Given the description of an element on the screen output the (x, y) to click on. 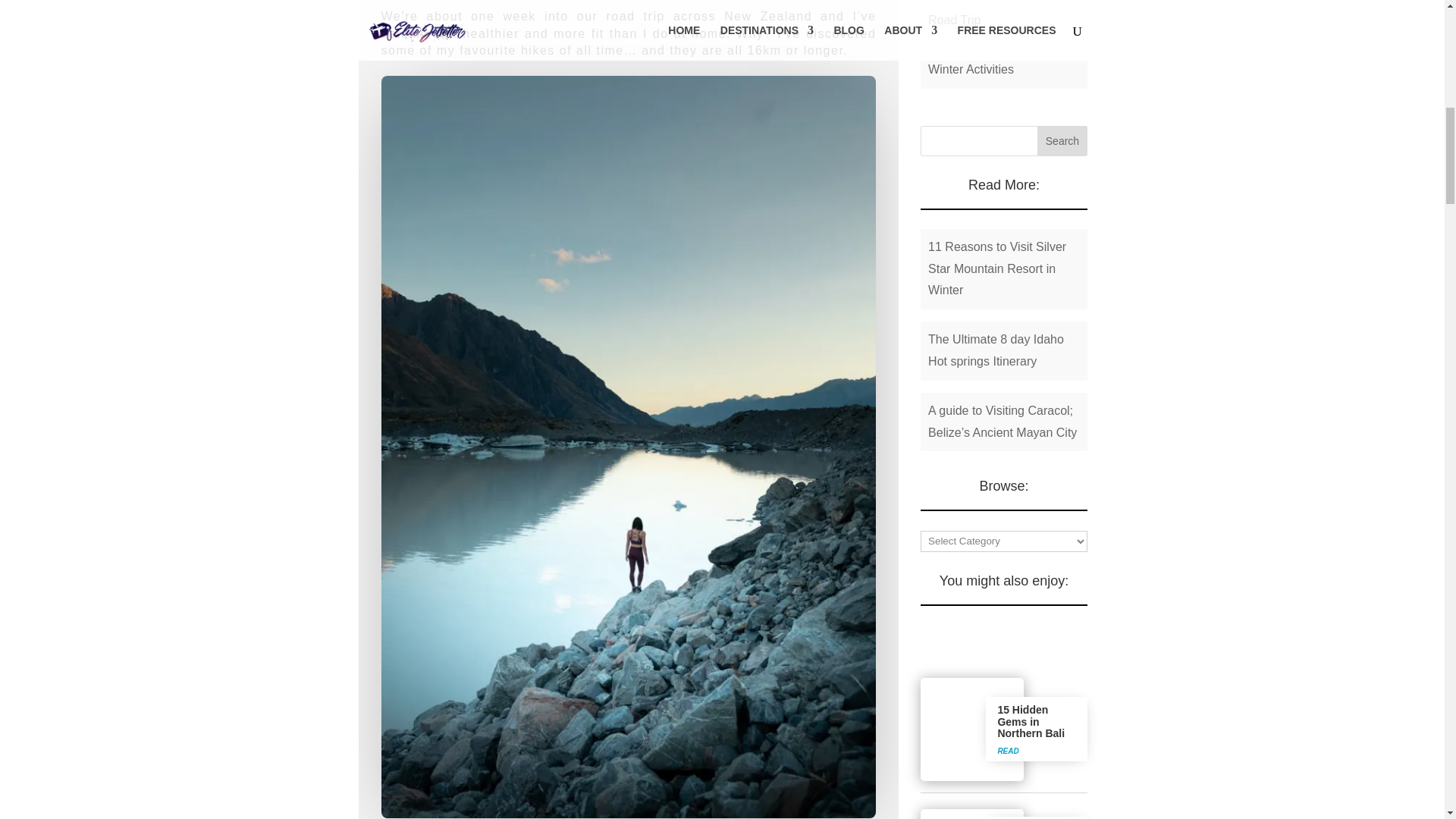
Search (1061, 141)
